Given the description of an element on the screen output the (x, y) to click on. 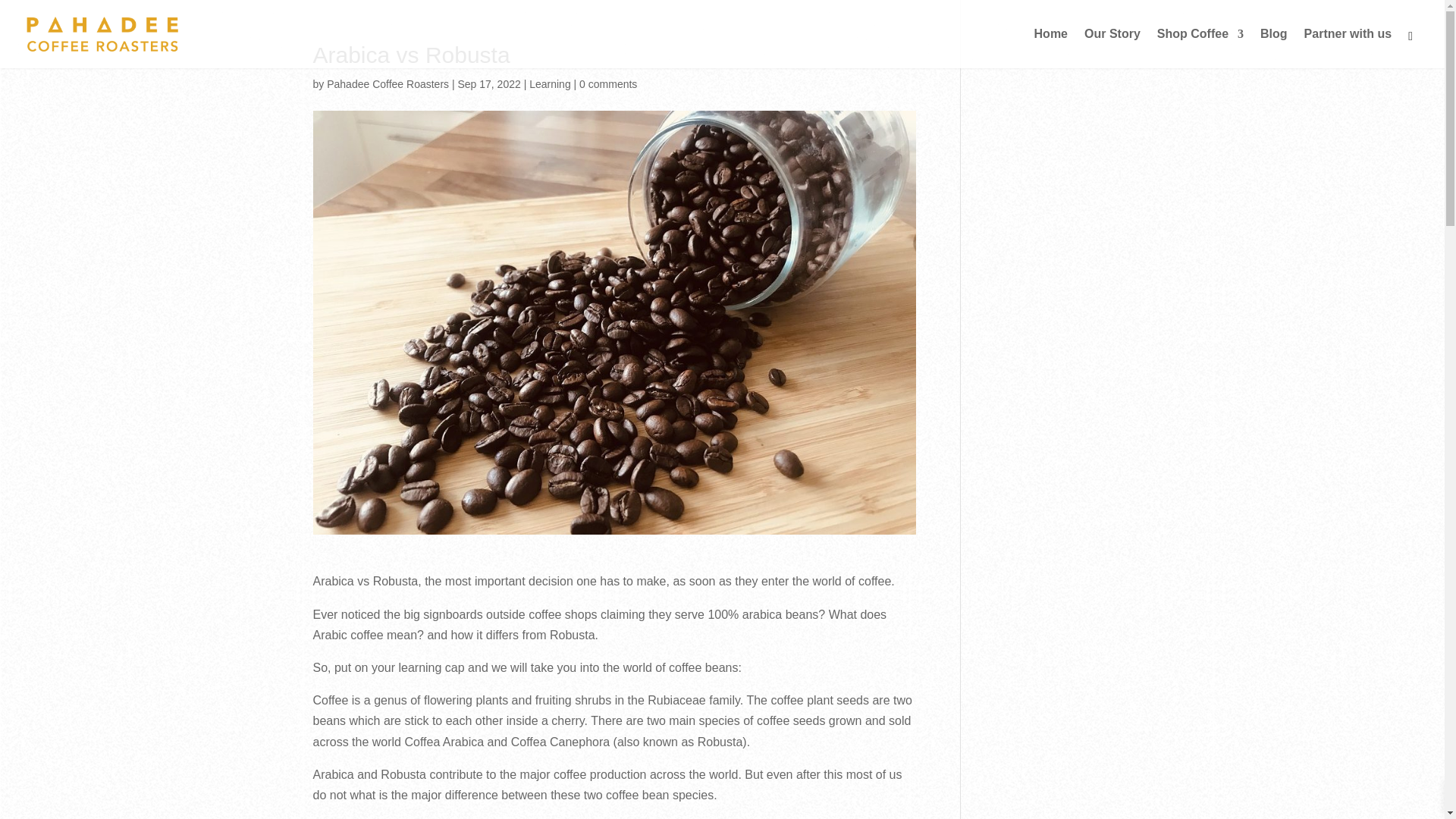
Learning (549, 83)
Posts by Pahadee Coffee Roasters (387, 83)
Our Story (1112, 47)
Home (1050, 47)
Partner with us (1347, 47)
Blog (1273, 47)
Pahadee Coffee Roasters (387, 83)
Shop Coffee (1200, 47)
0 comments (608, 83)
